Given the description of an element on the screen output the (x, y) to click on. 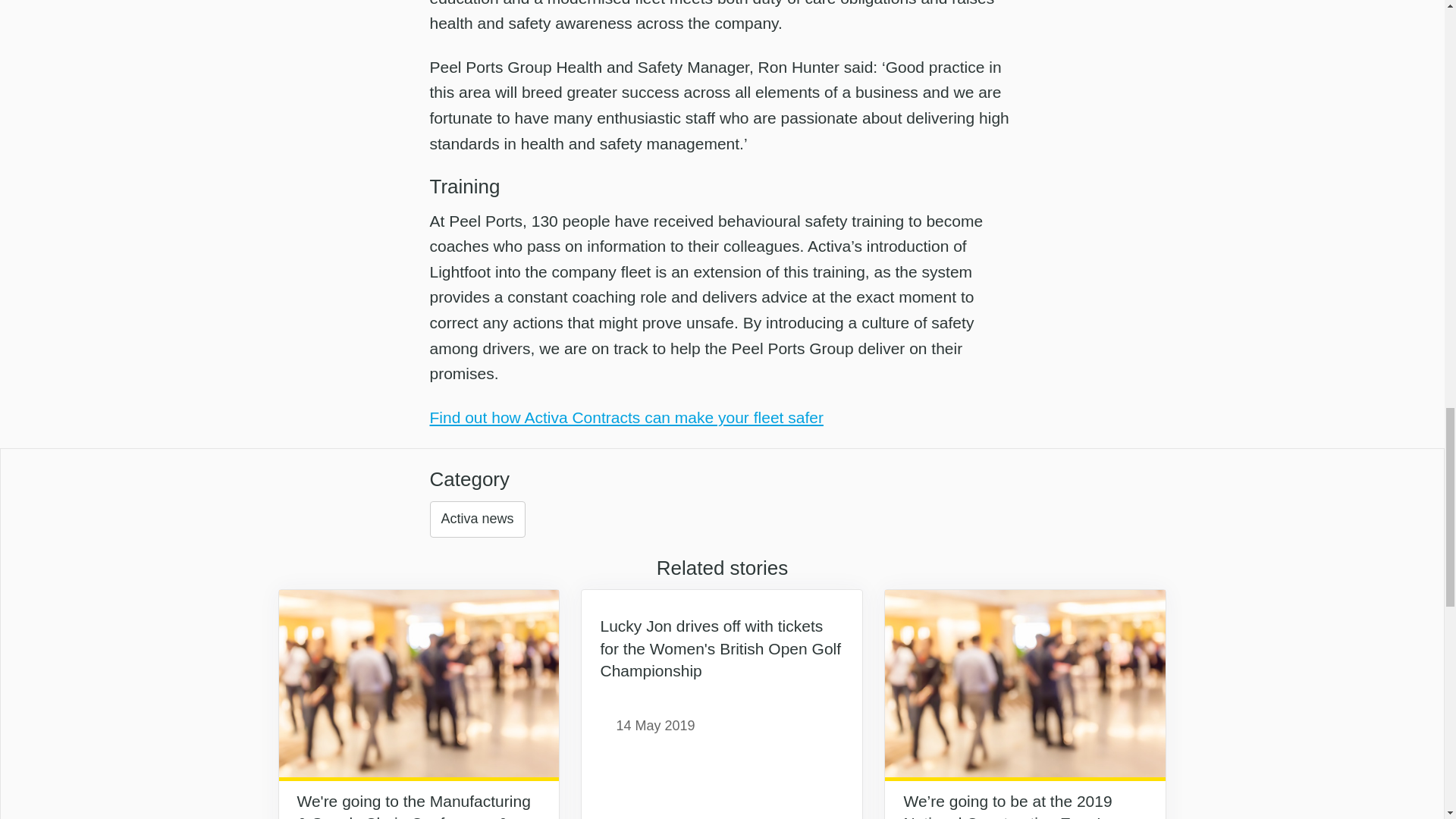
Find out how Activa Contracts can make your fleet safer (625, 416)
Activa news (476, 519)
